Given the description of an element on the screen output the (x, y) to click on. 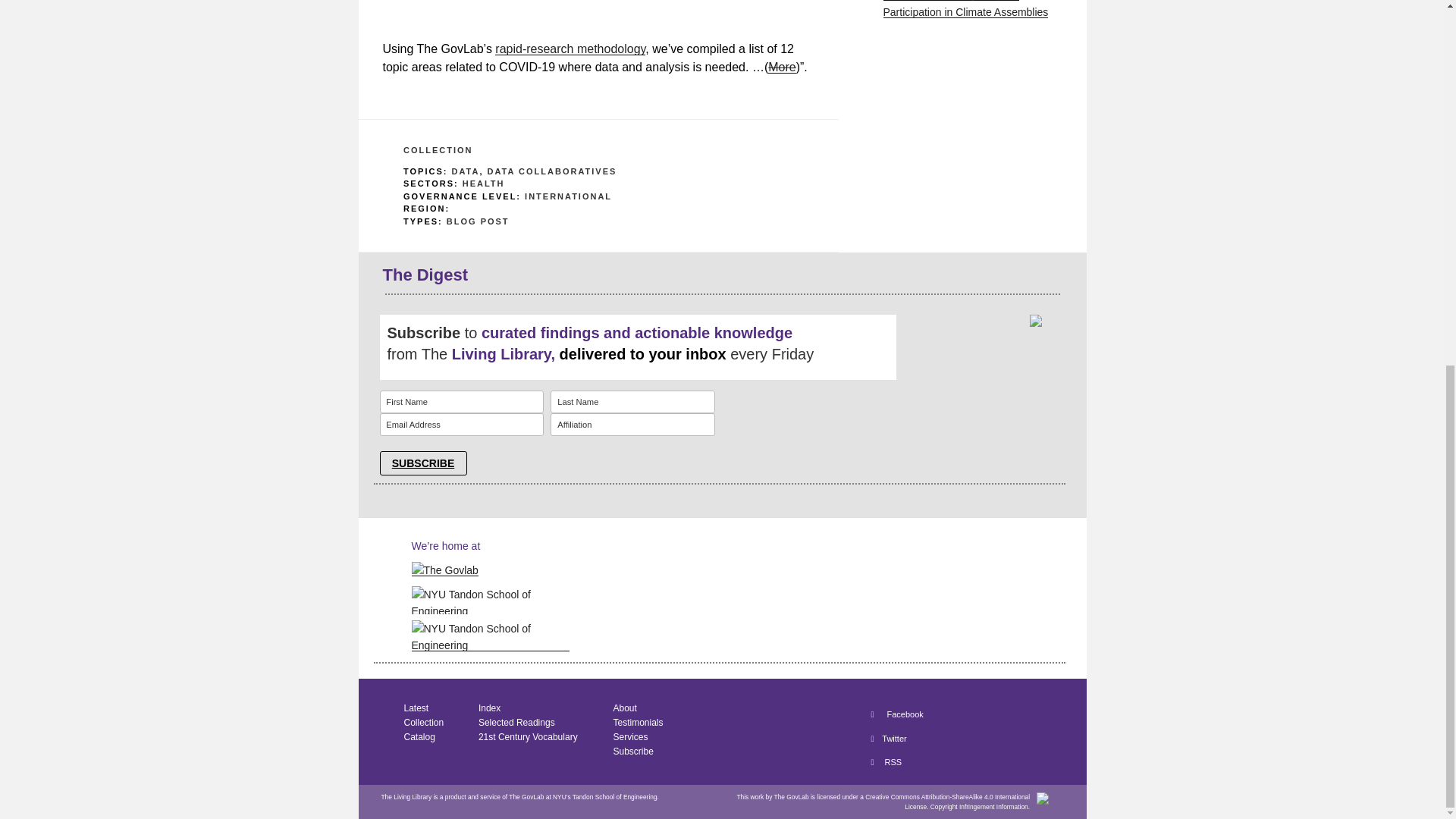
DATA (465, 171)
More (781, 66)
DATA COLLABORATIVES (552, 171)
BLOG POST (477, 221)
rapid-research methodology (570, 48)
SUBSCRIBE (421, 463)
HEALTH (484, 183)
COLLECTION (438, 149)
INTERNATIONAL (567, 194)
